Given the description of an element on the screen output the (x, y) to click on. 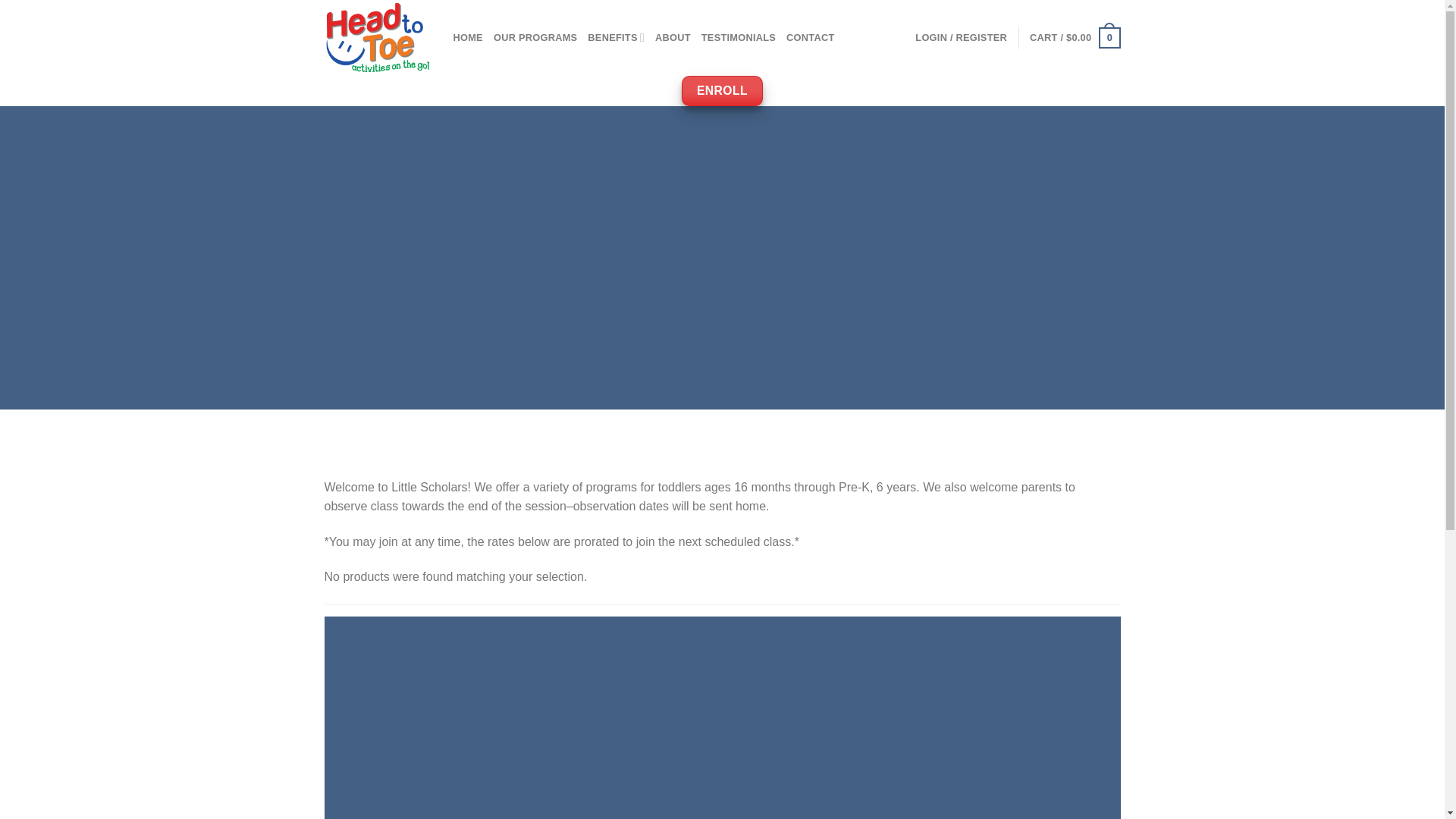
ENROLL (721, 91)
HOME (467, 37)
CONTACT (810, 37)
Head To Toe - Leading Children's Enrichment Provider (377, 37)
BENEFITS (616, 37)
Cart (1074, 37)
ABOUT (672, 37)
OUR PROGRAMS (534, 37)
TESTIMONIALS (738, 37)
